Given the description of an element on the screen output the (x, y) to click on. 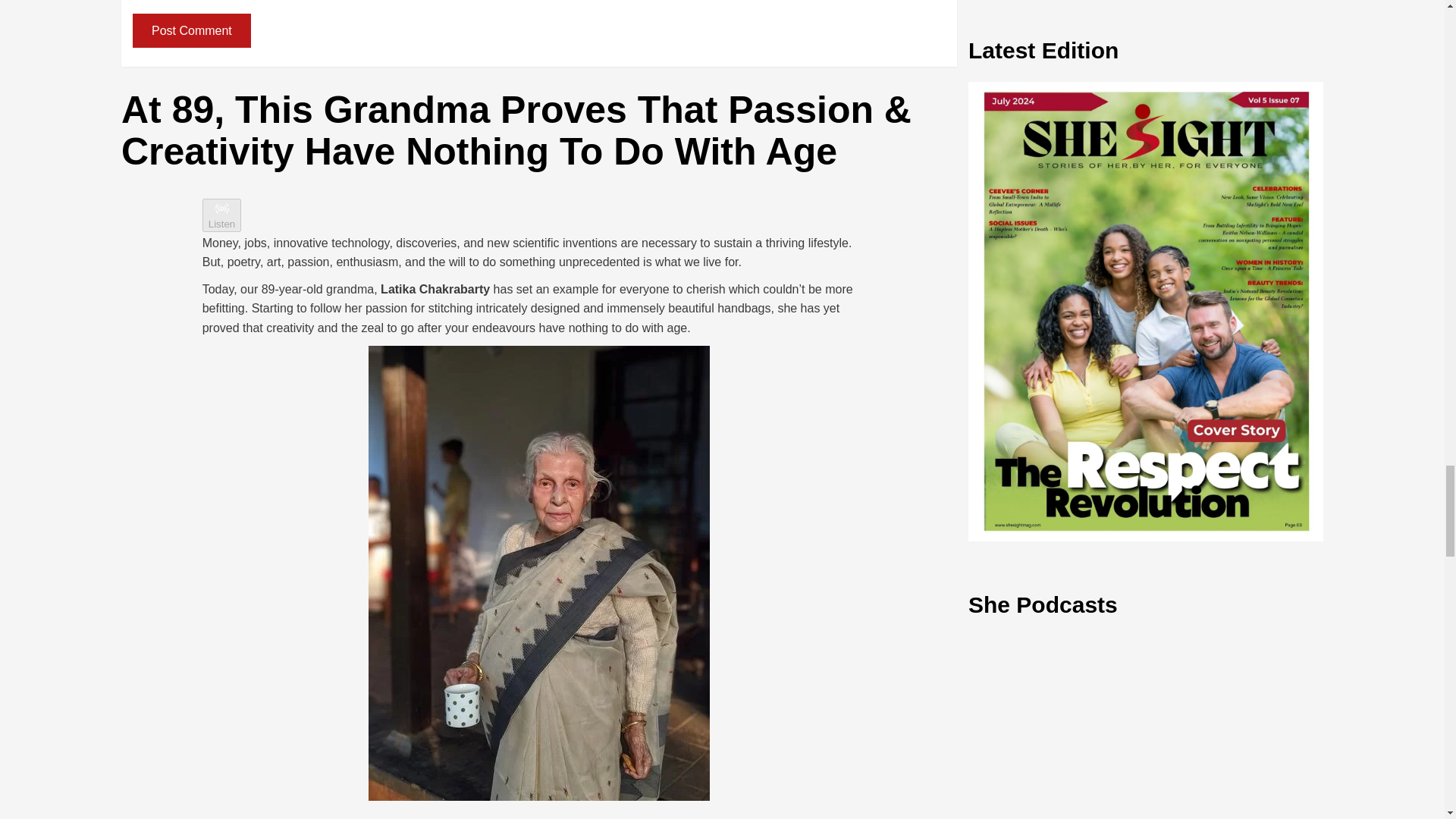
Post Comment (191, 30)
